Given the description of an element on the screen output the (x, y) to click on. 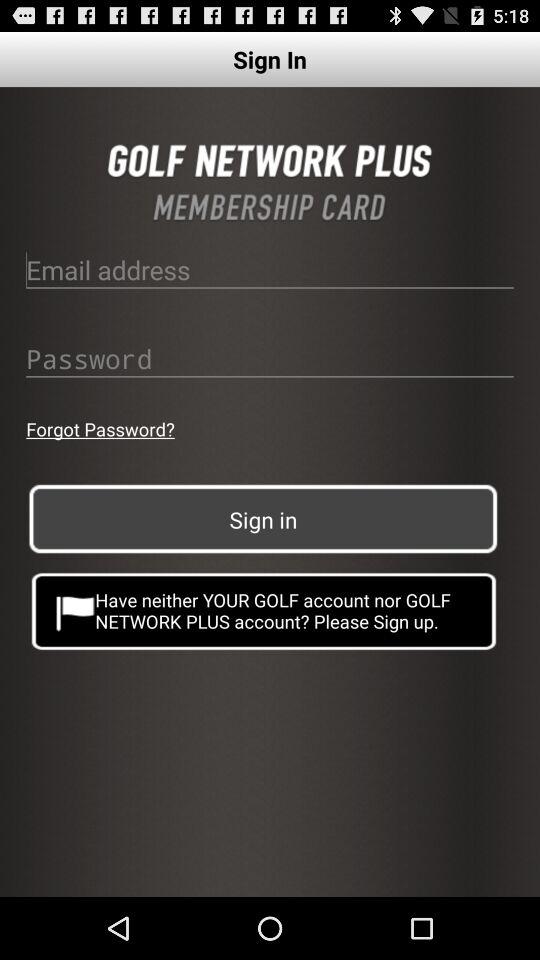
swipe to the have neither your icon (264, 610)
